Given the description of an element on the screen output the (x, y) to click on. 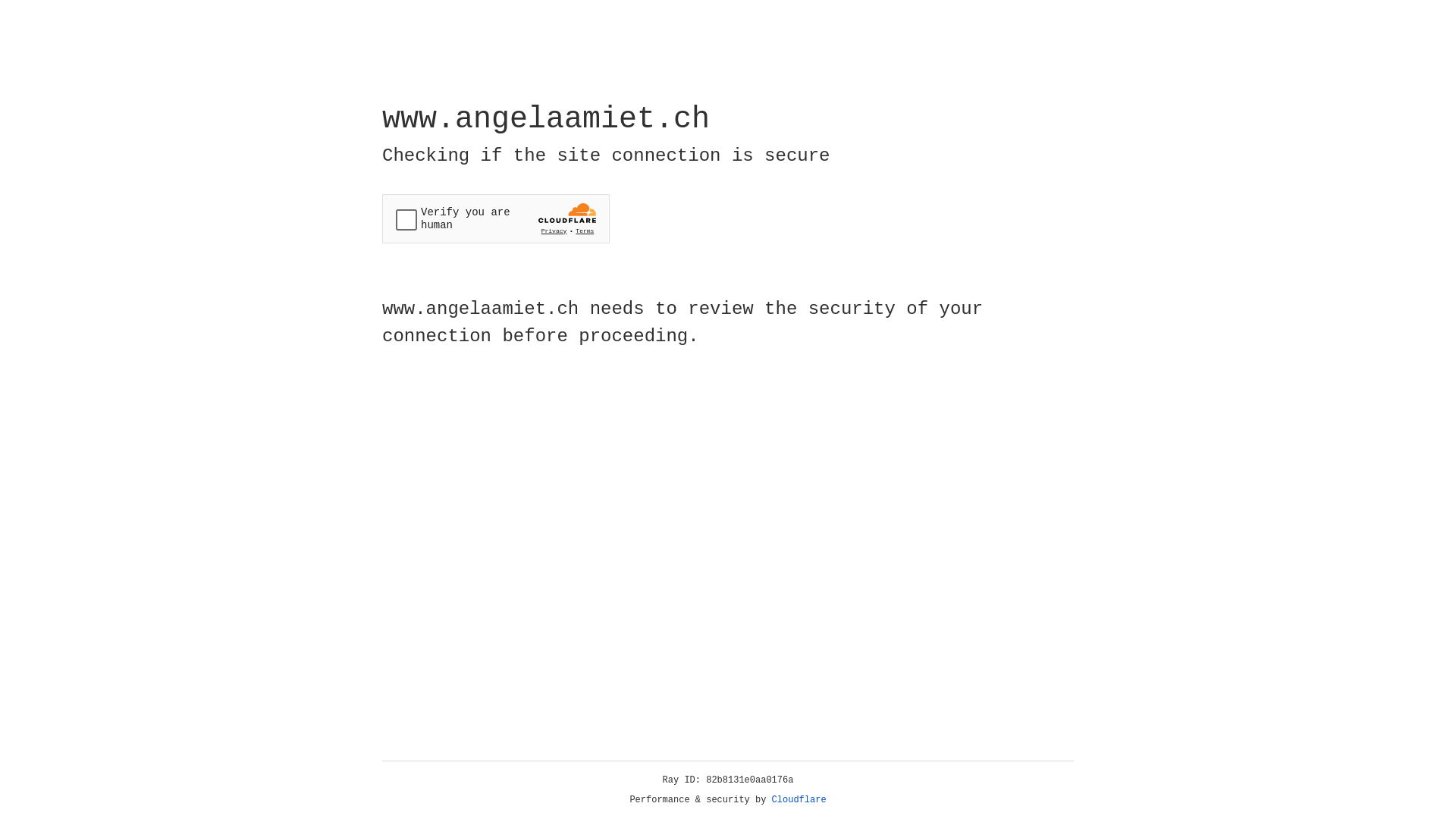
Cloudflare Element type: text (798, 799)
Widget containing a Cloudflare security challenge Element type: hover (495, 218)
